Given the description of an element on the screen output the (x, y) to click on. 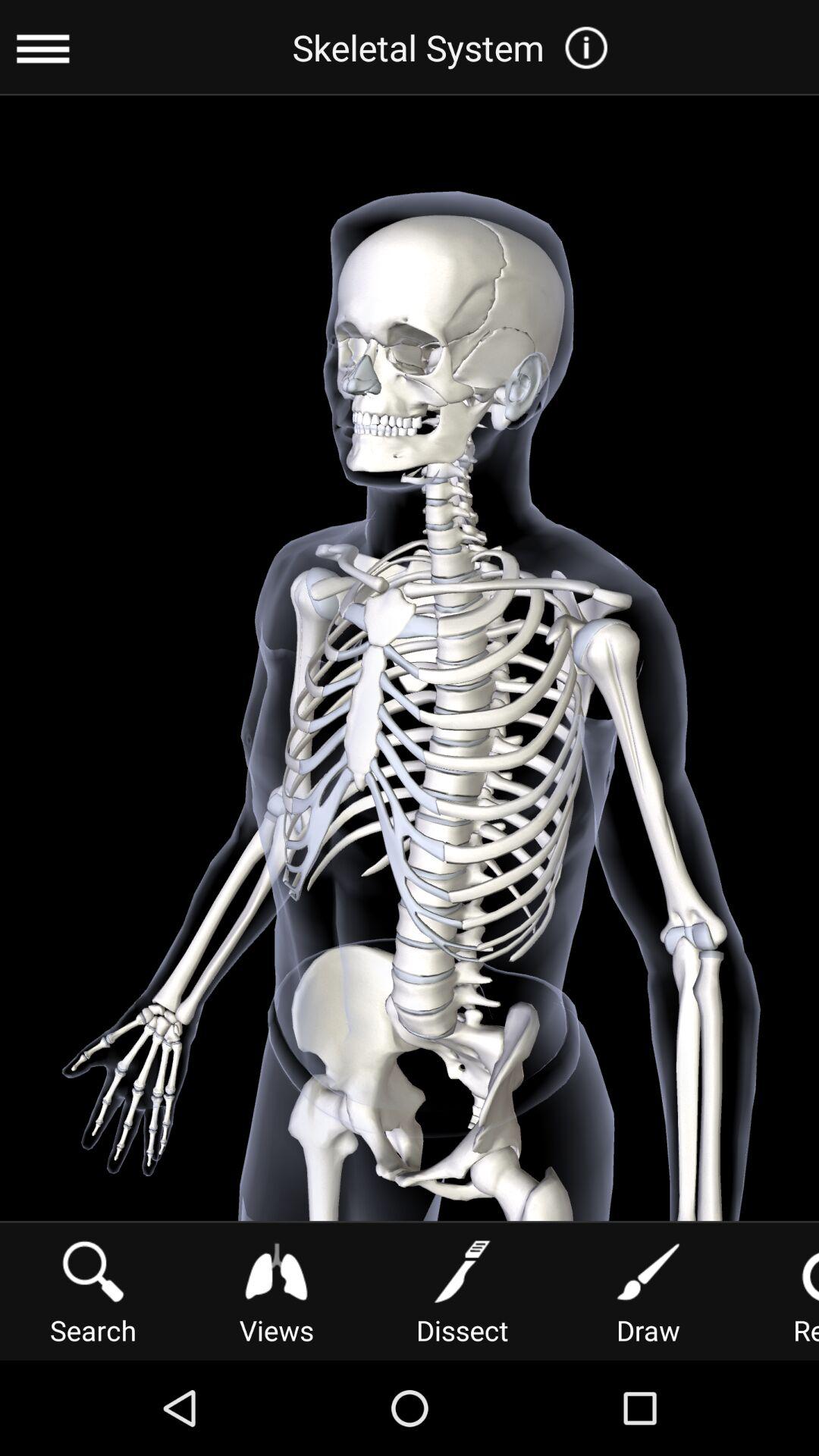
click icon to the left of dissect item (276, 1290)
